Given the description of an element on the screen output the (x, y) to click on. 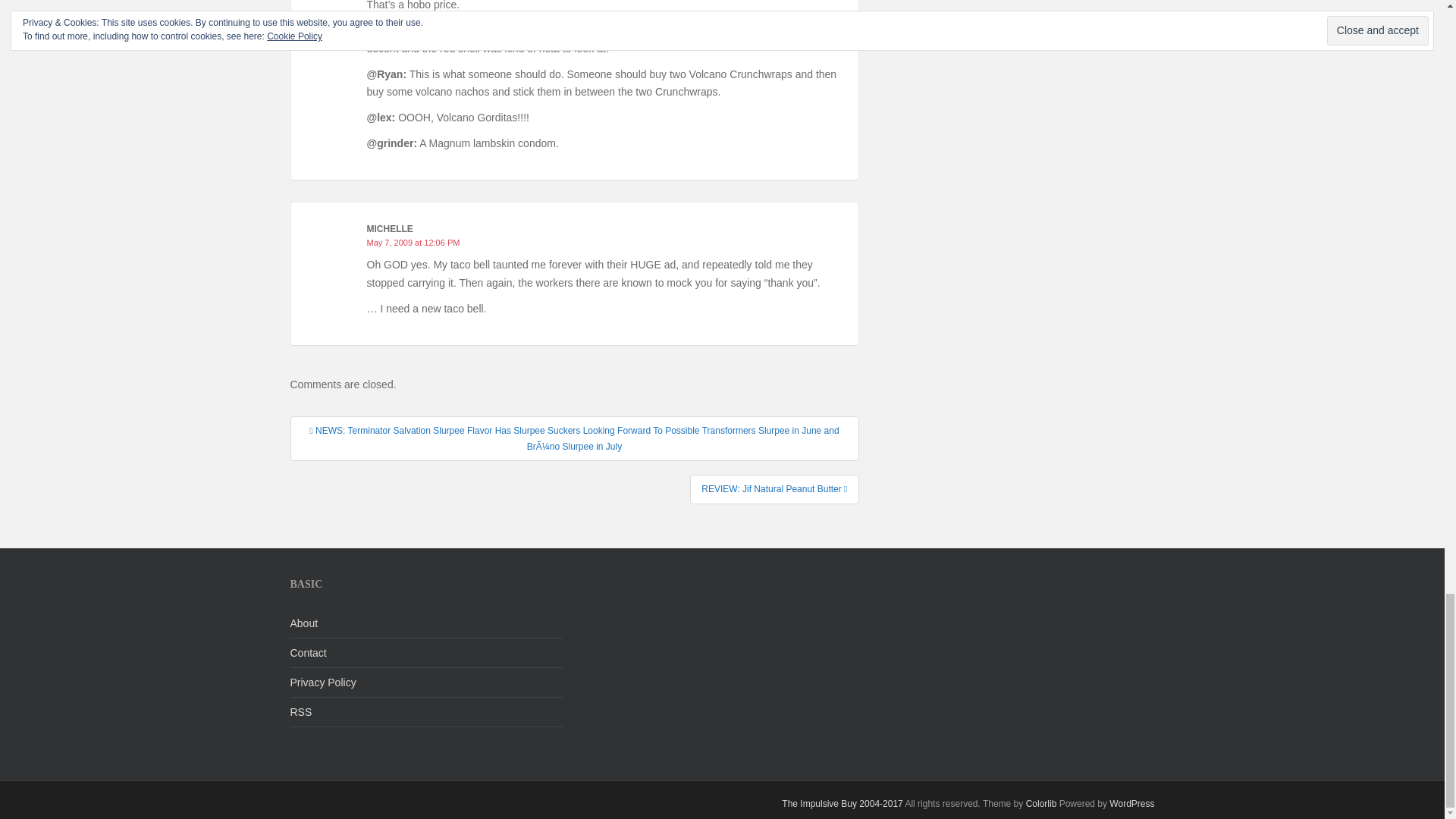
REVIEW: Jif Natural Peanut Butter (774, 489)
May 7, 2009 at 12:06 PM (413, 242)
